Given the description of an element on the screen output the (x, y) to click on. 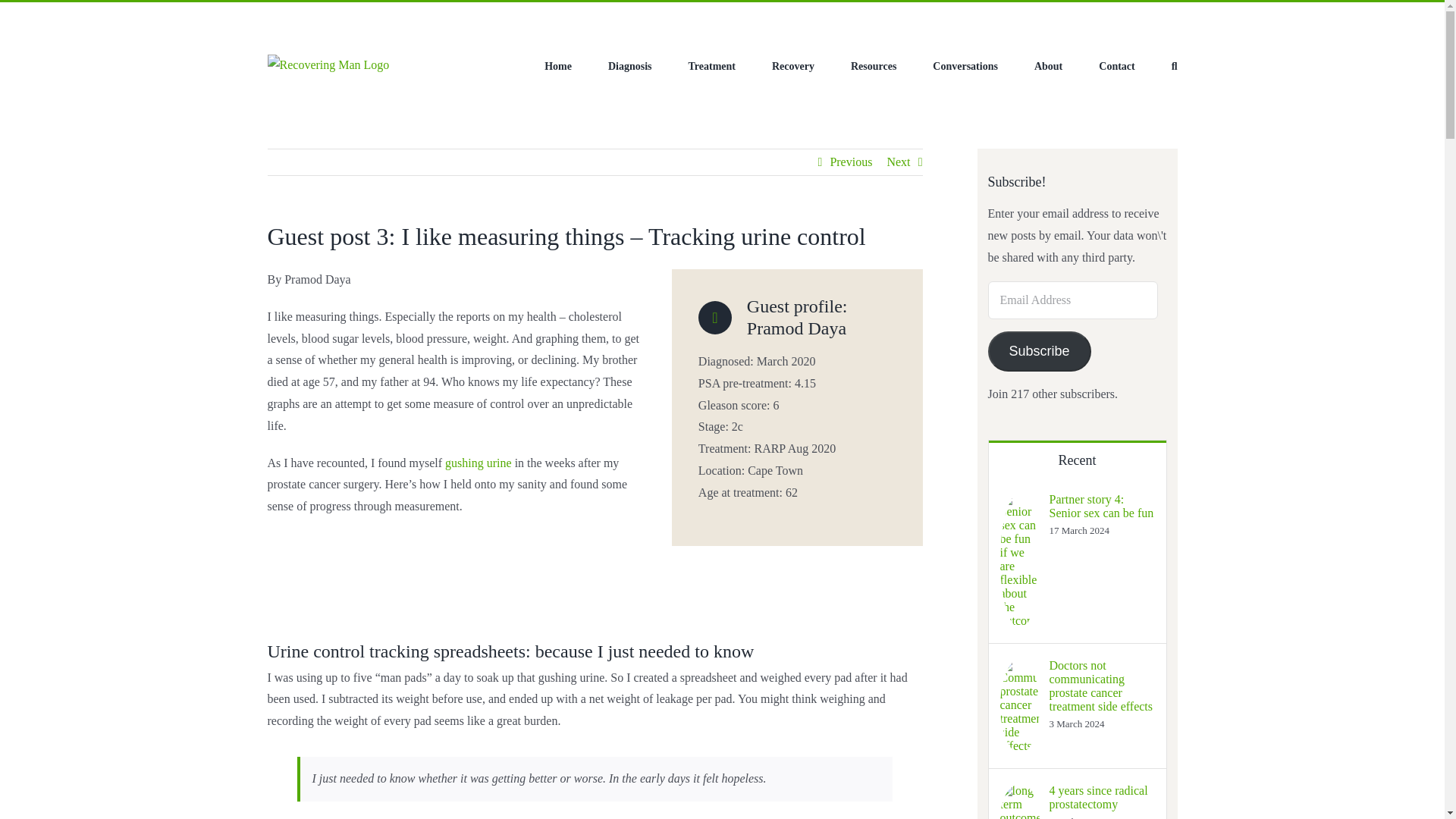
Conversations (965, 66)
X (288, 16)
gushing urine (478, 462)
Previous (850, 162)
Pinterest (328, 16)
Home (558, 66)
Instagram (308, 16)
Facebook (268, 16)
Subscribe (1038, 351)
Recovery (792, 66)
X (288, 16)
Contact (1116, 66)
Facebook (268, 16)
About (1047, 66)
